Given the description of an element on the screen output the (x, y) to click on. 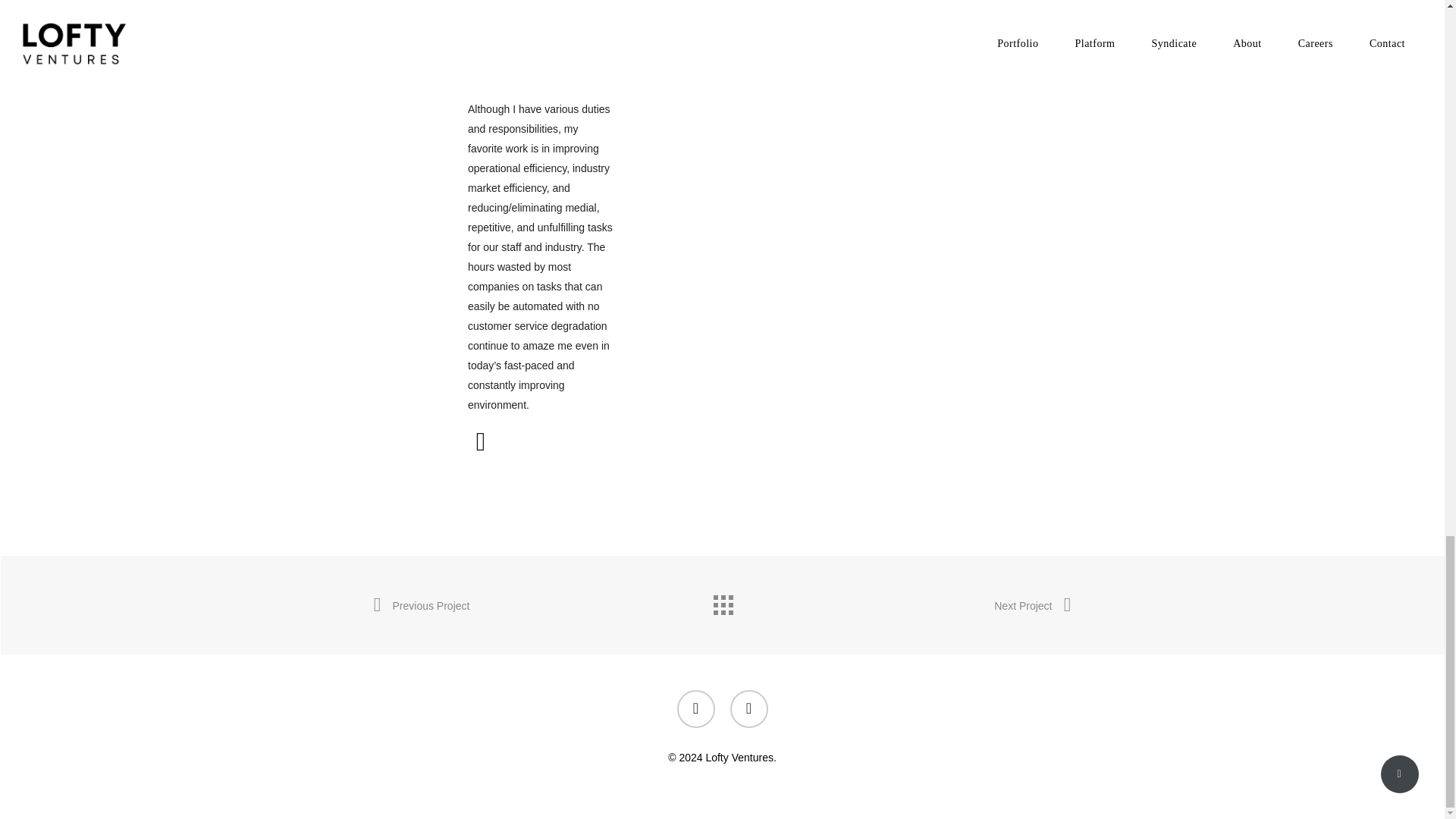
Next Project (1032, 605)
Previous Project (420, 605)
twitter (695, 709)
linkedin (748, 709)
Back to all projects (721, 601)
